Given the description of an element on the screen output the (x, y) to click on. 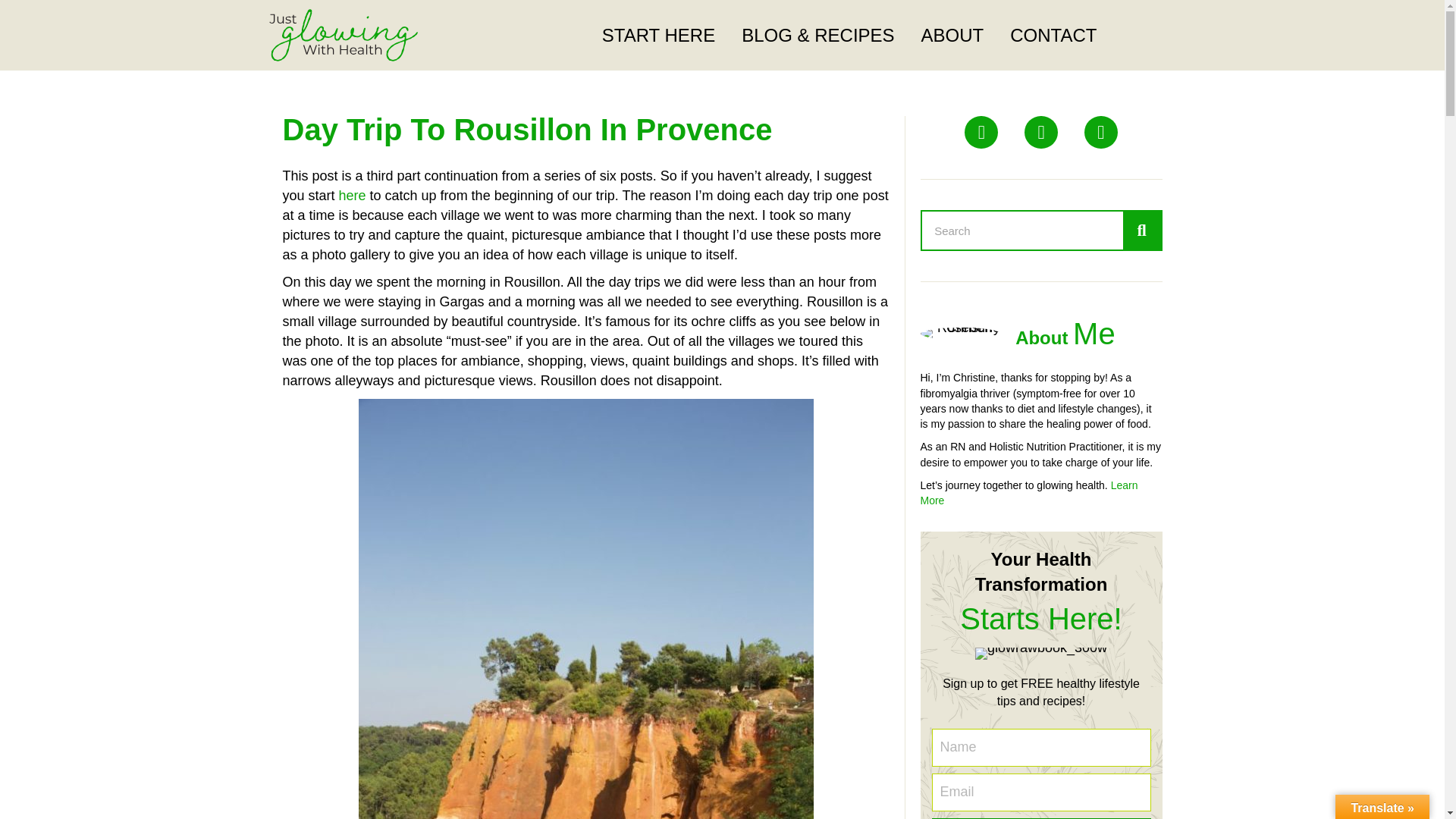
Just Glowing With Health (342, 35)
here (352, 195)
Search (1021, 230)
START HERE (658, 35)
ABOUT (952, 35)
Christine Roseberry (960, 333)
CONTACT (1053, 35)
